Given the description of an element on the screen output the (x, y) to click on. 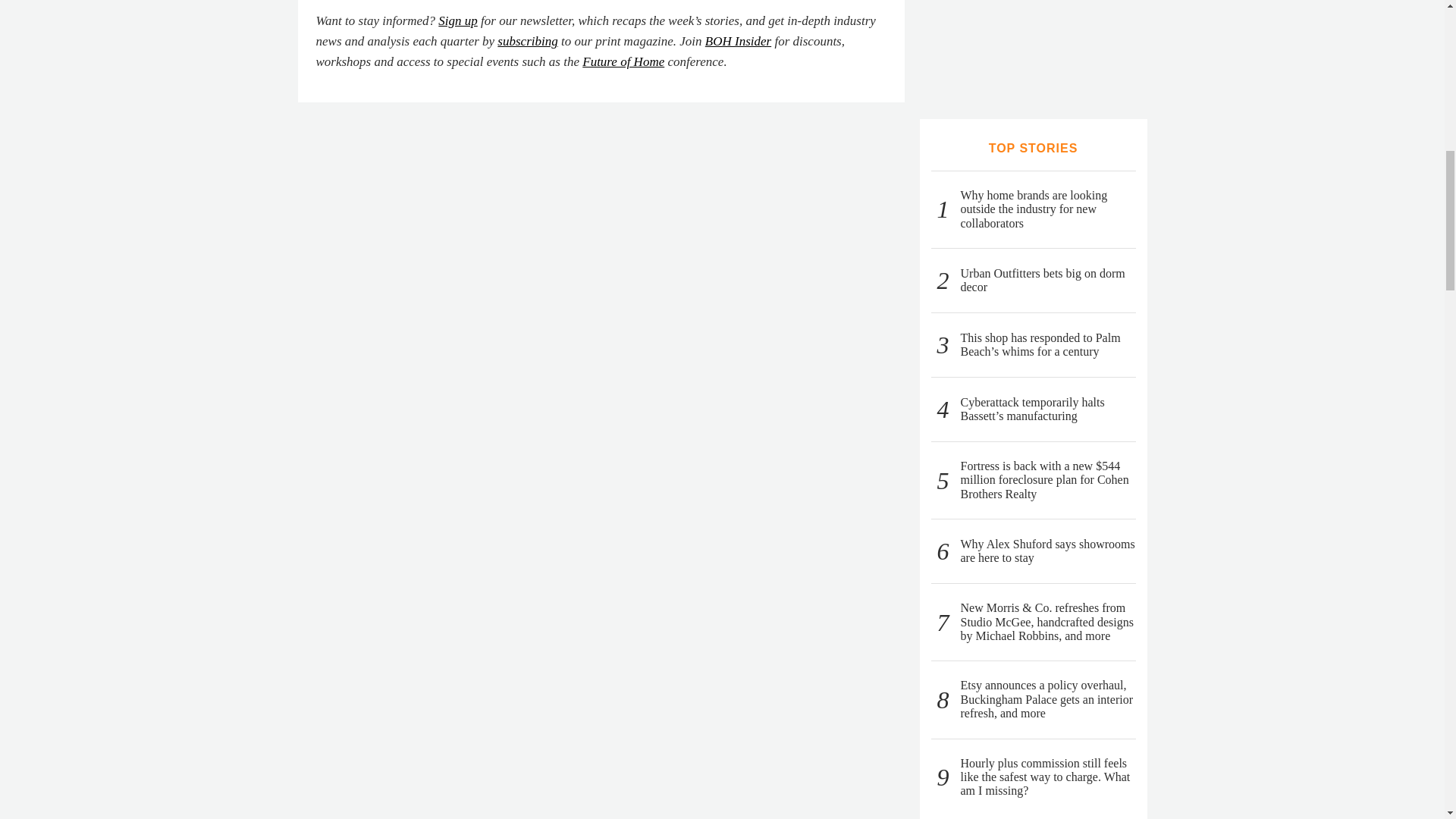
3rd party ad content (1032, 44)
